Given the description of an element on the screen output the (x, y) to click on. 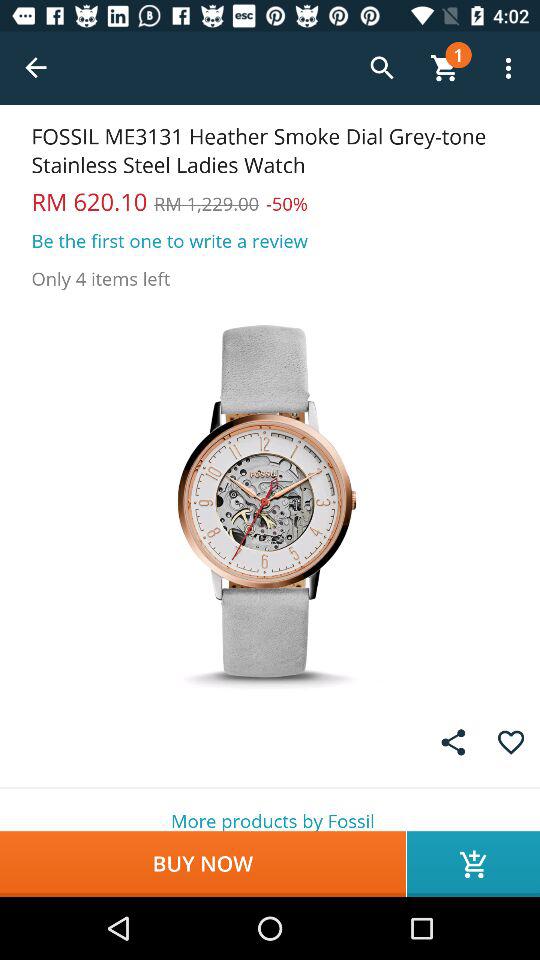
tap the item above the more products by icon (510, 742)
